Given the description of an element on the screen output the (x, y) to click on. 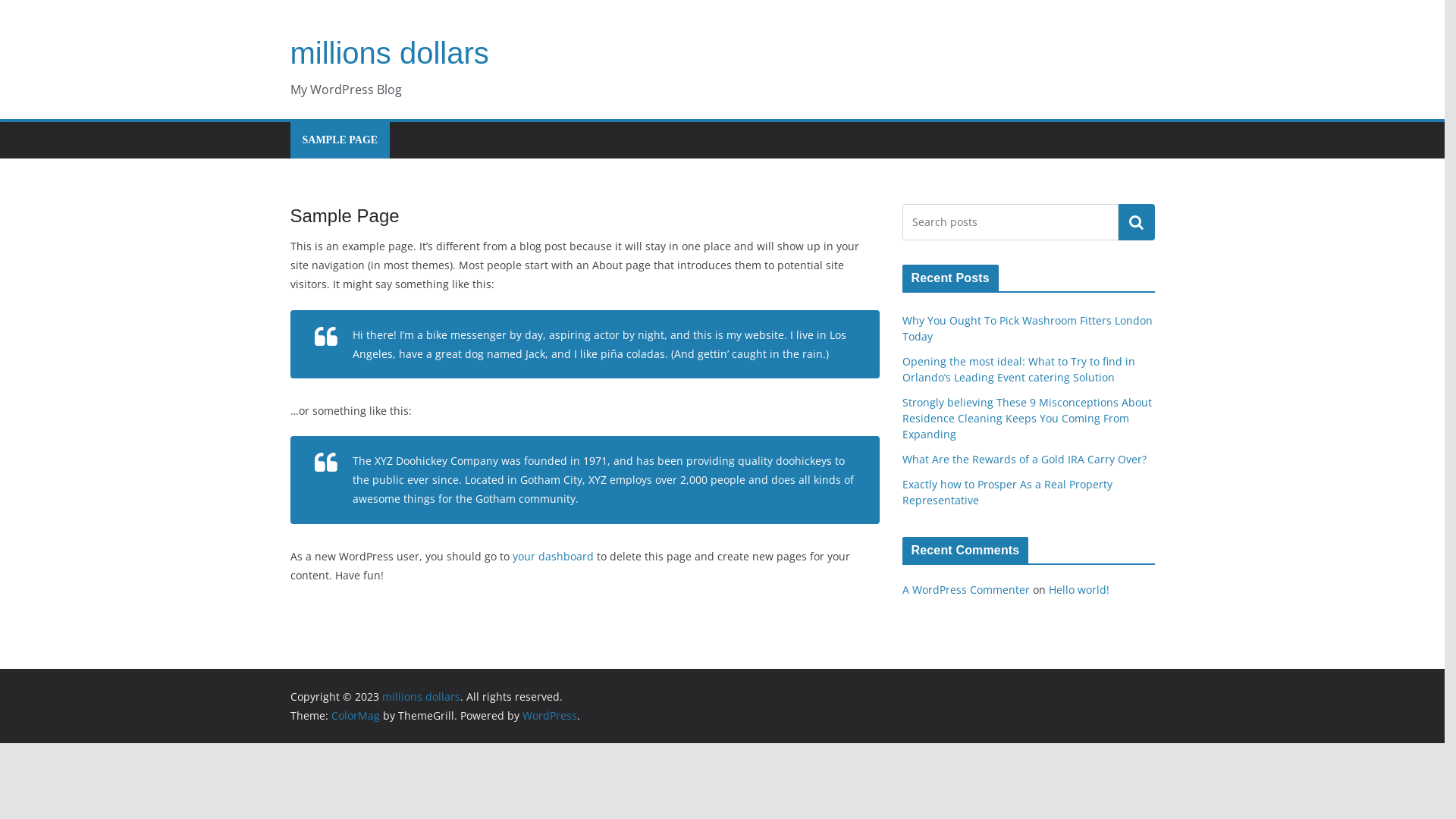
your dashboard Element type: text (552, 556)
WordPress Element type: text (548, 715)
A WordPress Commenter Element type: text (965, 589)
ColorMag Element type: text (354, 715)
Search Element type: text (1135, 221)
millions dollars Element type: text (388, 52)
millions dollars Element type: text (421, 696)
SAMPLE PAGE Element type: text (339, 139)
Exactly how to Prosper As a Real Property Representative Element type: text (1007, 491)
Why You Ought To Pick Washroom Fitters London Today Element type: text (1027, 328)
Hello world! Element type: text (1078, 589)
What Are the Rewards of a Gold IRA Carry Over? Element type: text (1024, 458)
